Given the description of an element on the screen output the (x, y) to click on. 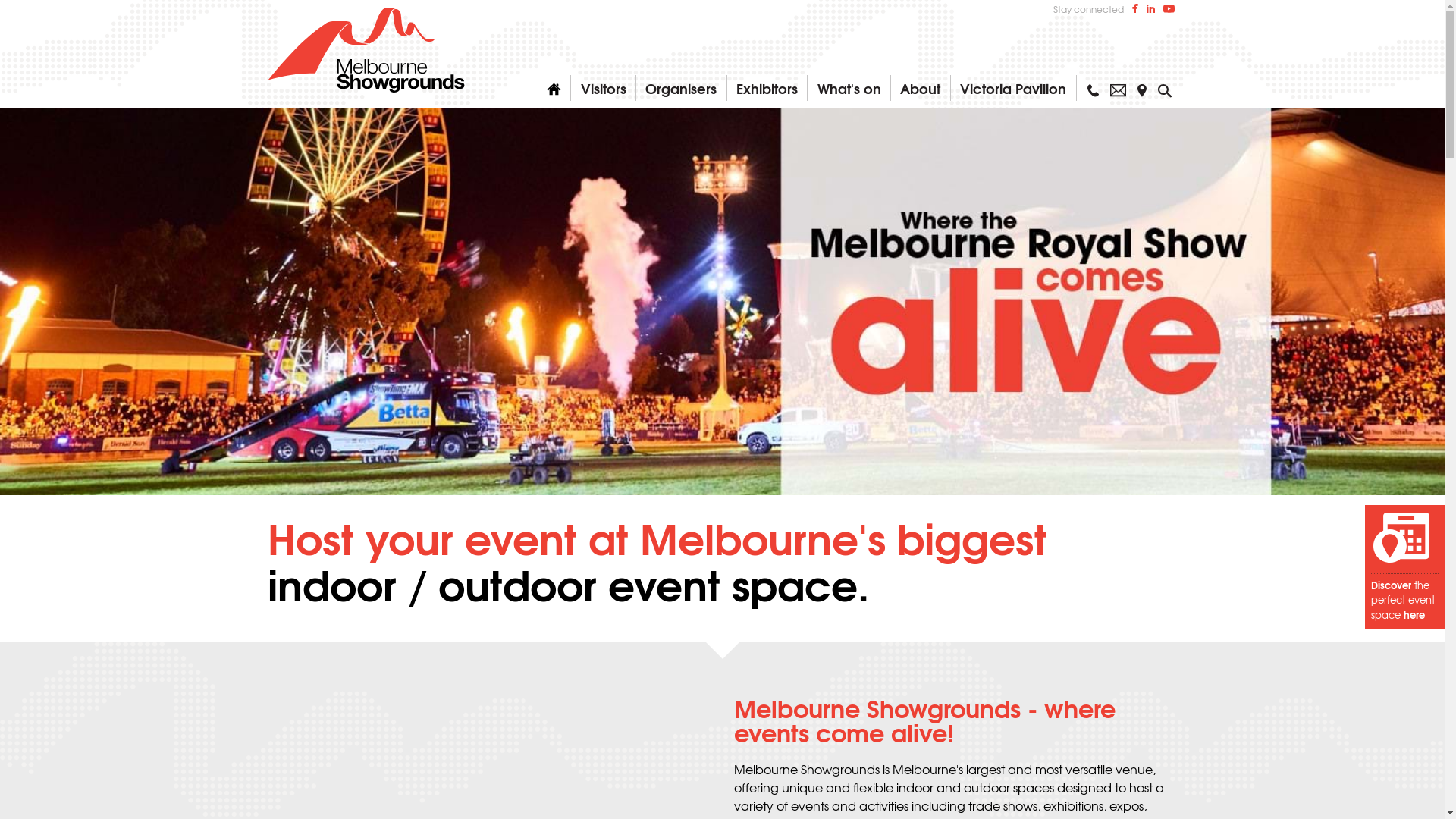
Discover the perfect event space here Element type: text (1404, 567)
Victoria Pavilion Element type: text (1013, 87)
Organisers Element type: text (680, 87)
Exhibitors Element type: text (766, 87)
About Element type: text (920, 87)
What's on Element type: text (848, 87)
Visitors Element type: text (602, 87)
